Given the description of an element on the screen output the (x, y) to click on. 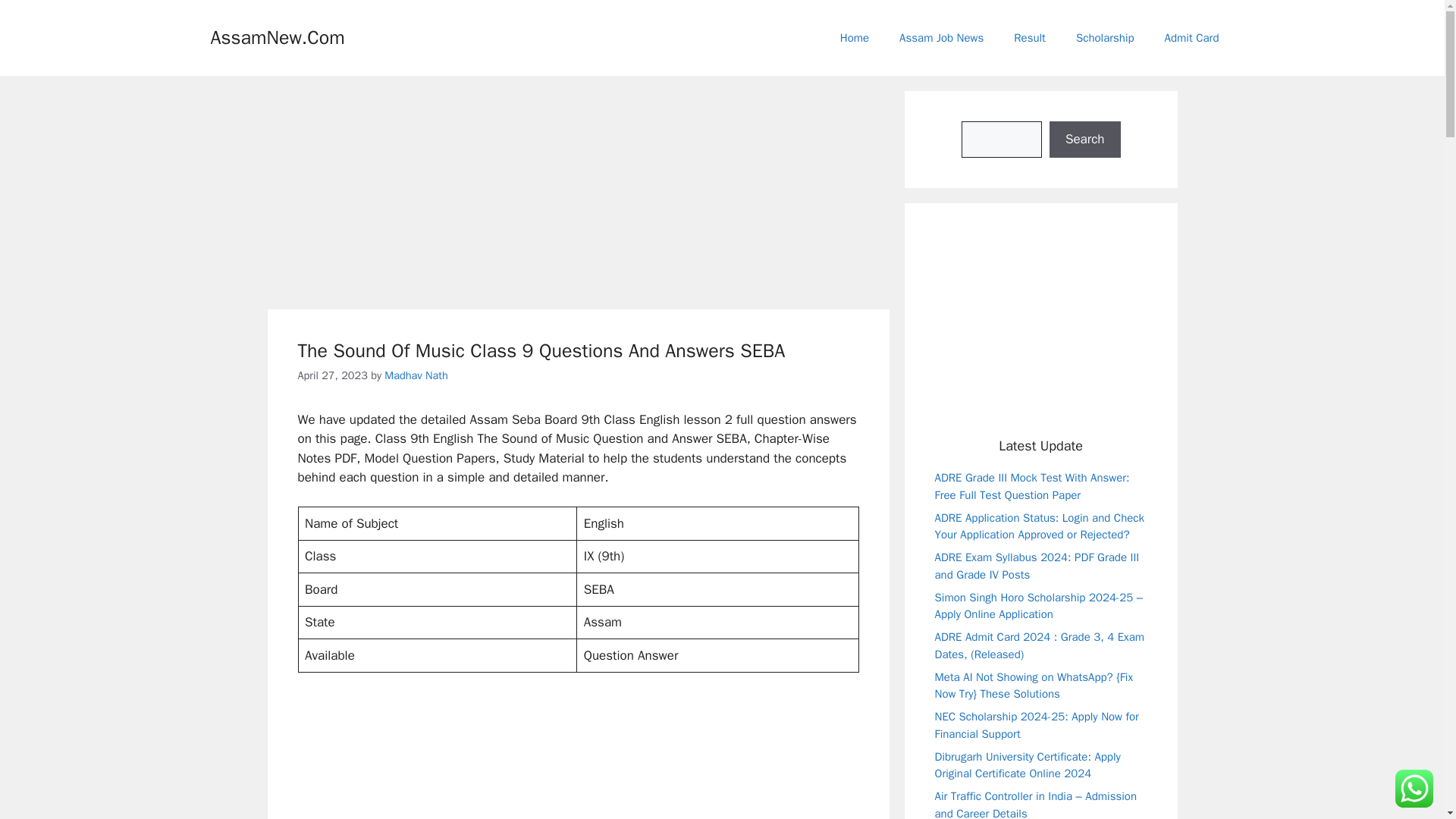
NEC Scholarship 2024-25: Apply Now for Financial Support (1036, 725)
Result (1029, 37)
Search (1085, 139)
Assam Job News (940, 37)
Admit Card (1192, 37)
Advertisement (618, 759)
ADRE Exam Syllabus 2024: PDF Grade III and Grade IV Posts (1036, 565)
Home (854, 37)
Madhav Nath (415, 375)
Advertisement (1064, 335)
Scholarship (1105, 37)
